Given the description of an element on the screen output the (x, y) to click on. 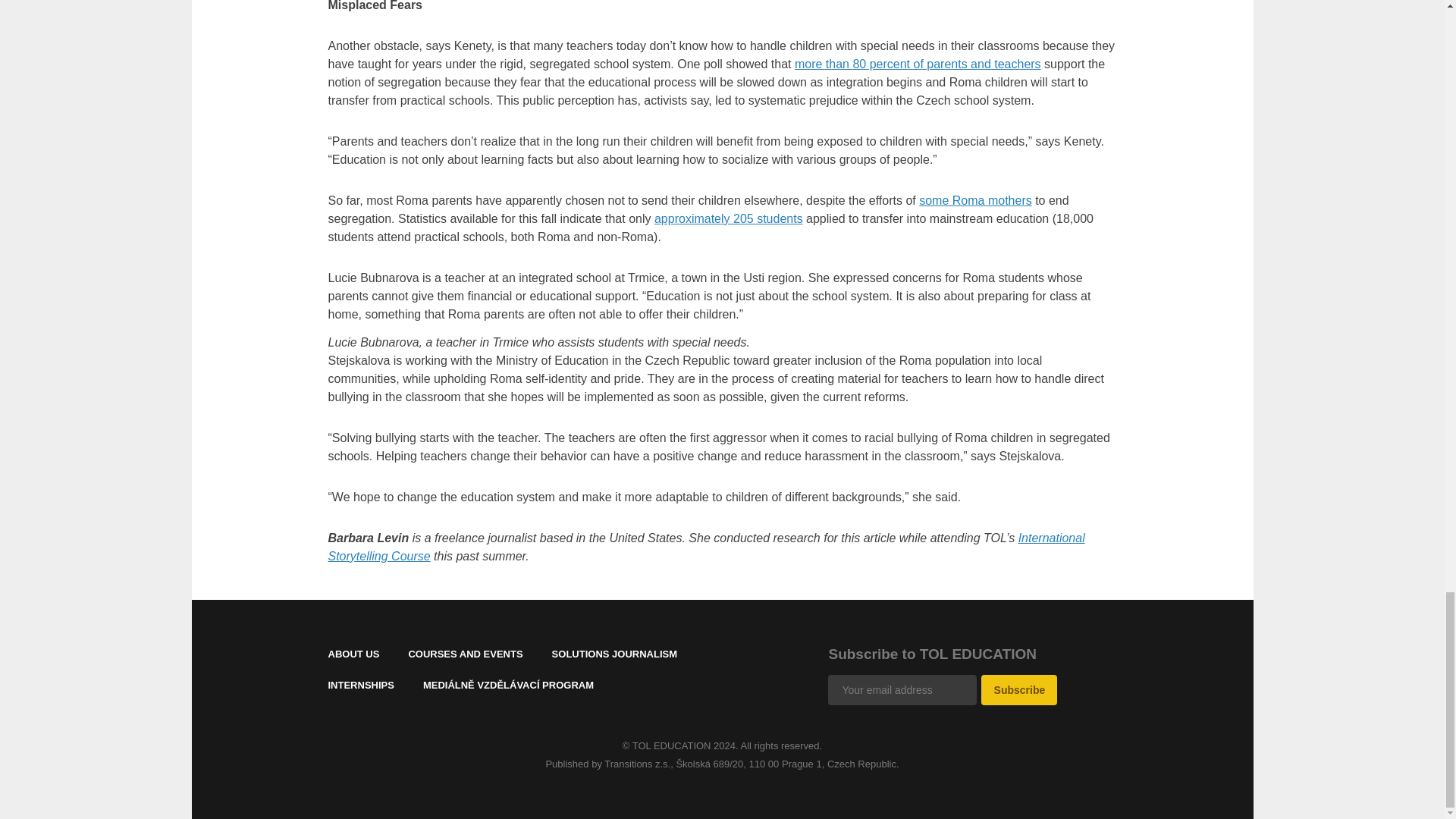
Subscribe (1019, 689)
Your email address (902, 689)
